Given the description of an element on the screen output the (x, y) to click on. 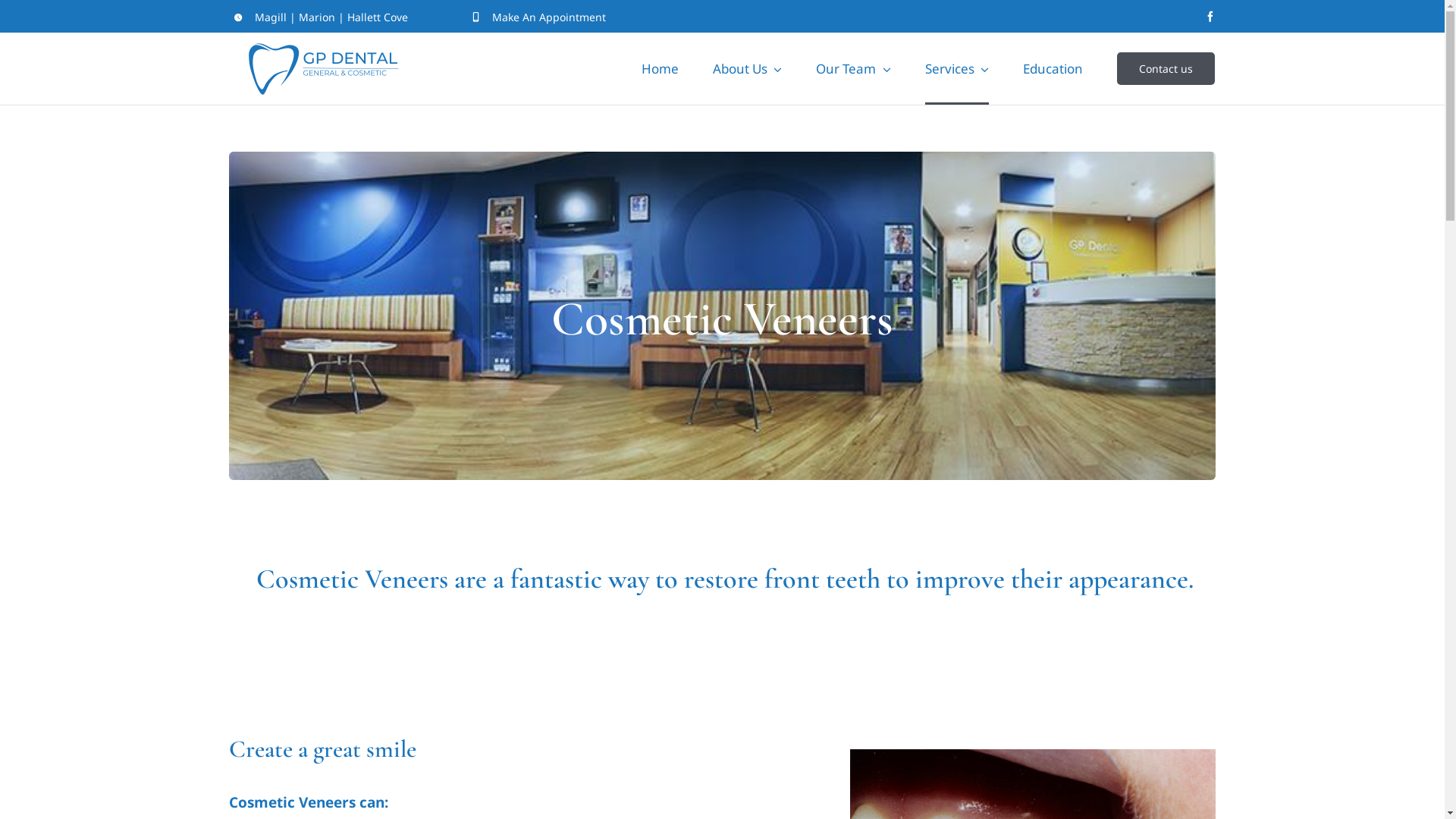
Home Element type: text (659, 68)
Our Team Element type: text (853, 68)
Education Element type: text (1052, 68)
Services Element type: text (957, 68)
Contact us Element type: text (1165, 68)
About Us Element type: text (747, 68)
